Given the description of an element on the screen output the (x, y) to click on. 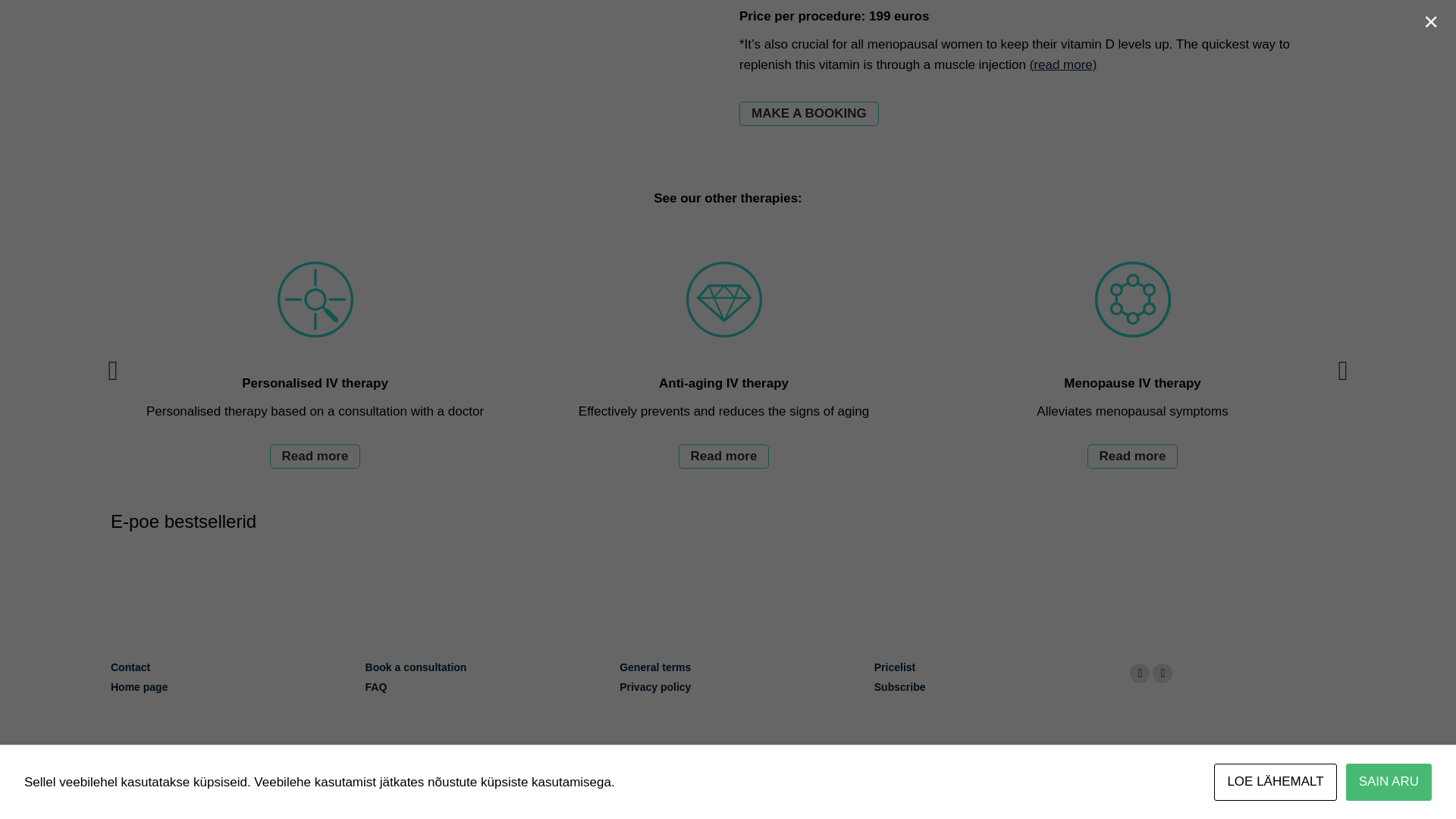
Broneeri aeg (809, 113)
